Given the description of an element on the screen output the (x, y) to click on. 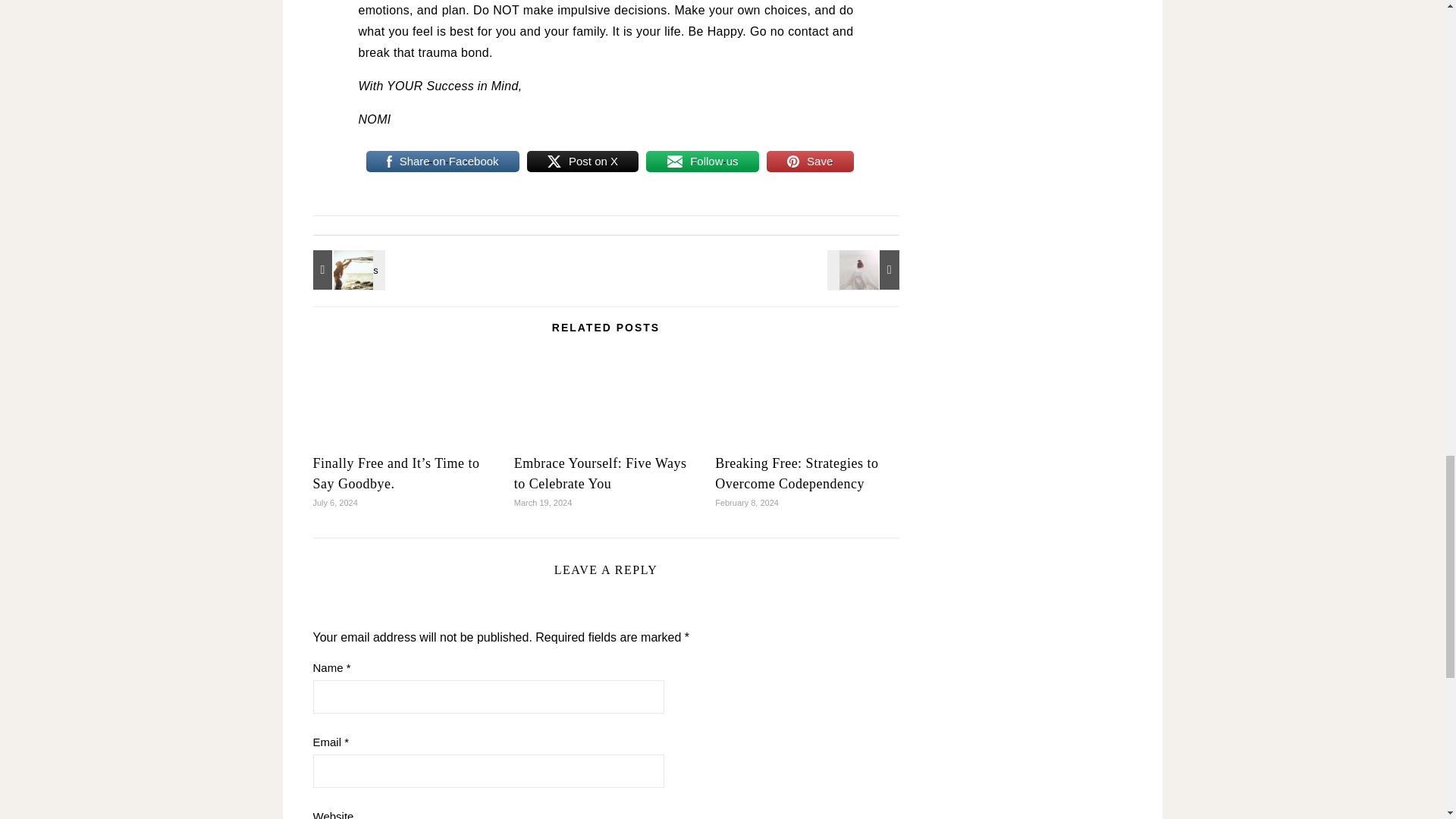
Share on Facebook (441, 161)
Save (810, 161)
Post on X (583, 161)
The Impact of Inner Child Issues on Our Relationships (865, 269)
Breaking Free: Strategies to Overcome Codependency  (795, 473)
Follow us (702, 161)
Embrace Yourself: Five Ways to Celebrate You  (600, 473)
